Given the description of an element on the screen output the (x, y) to click on. 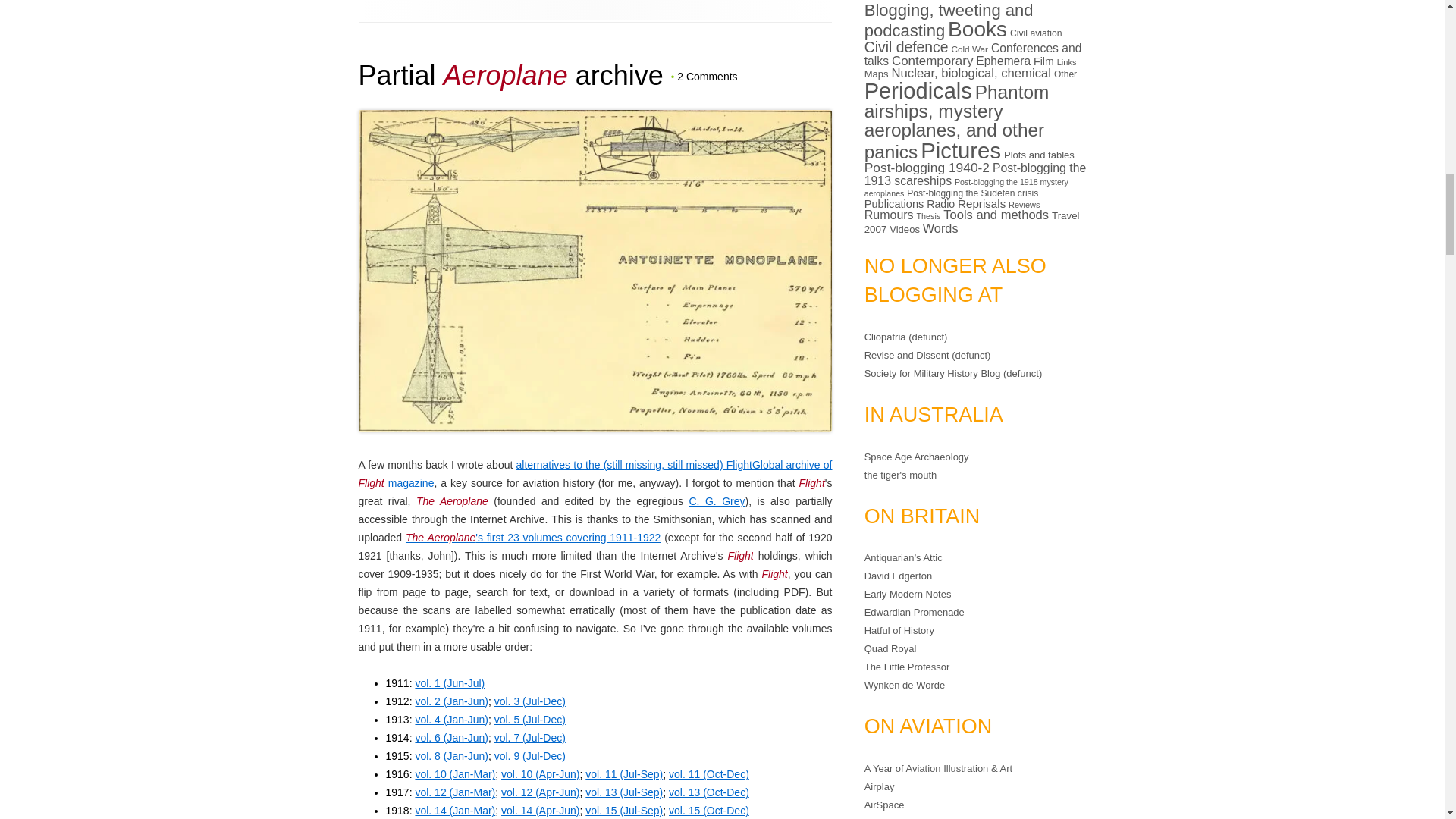
Partial Aeroplane archive (510, 74)
